Given the description of an element on the screen output the (x, y) to click on. 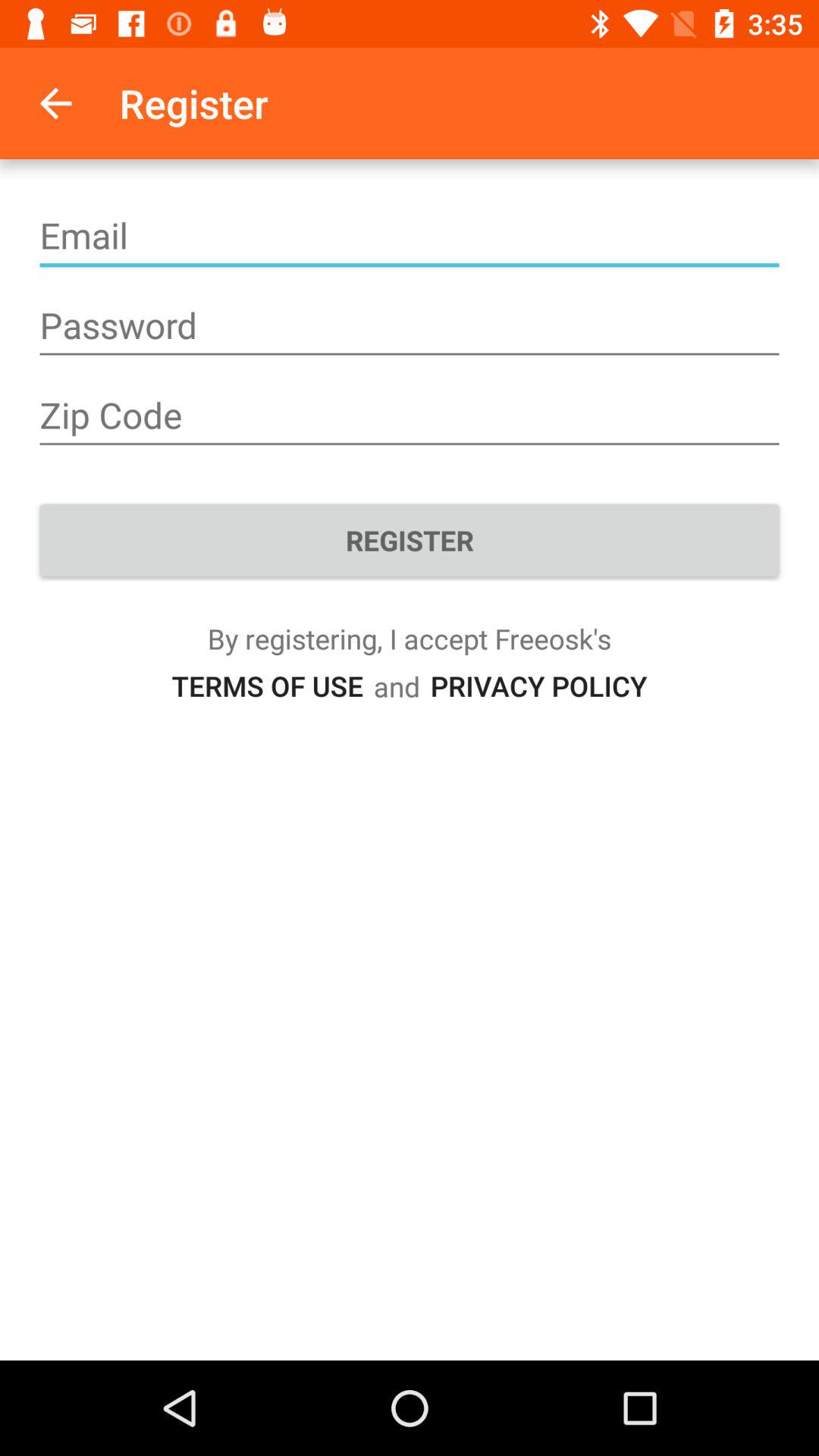
turn off item below the register icon (267, 685)
